Given the description of an element on the screen output the (x, y) to click on. 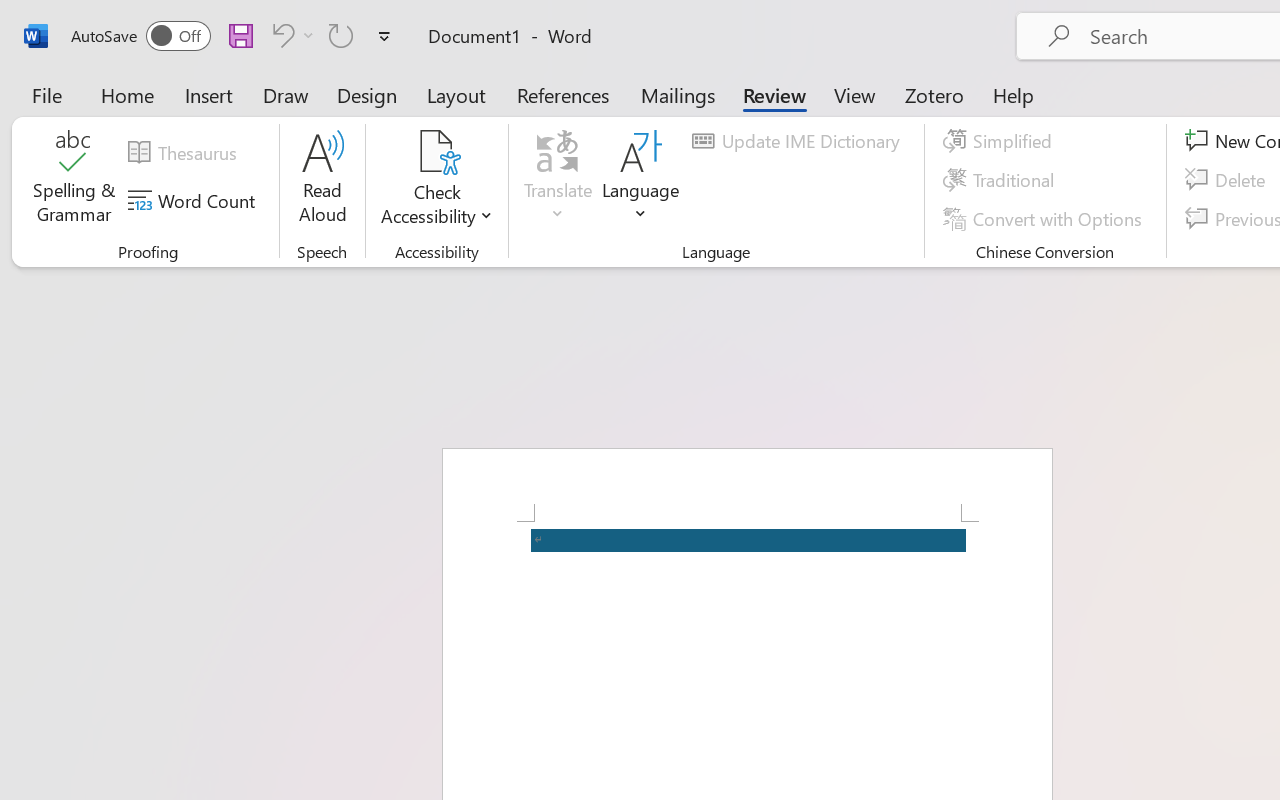
Undo Apply Quick Style Set (290, 35)
Delete (1227, 179)
Translate (558, 179)
Update IME Dictionary... (799, 141)
Check Accessibility (436, 179)
Thesaurus... (185, 153)
